Given the description of an element on the screen output the (x, y) to click on. 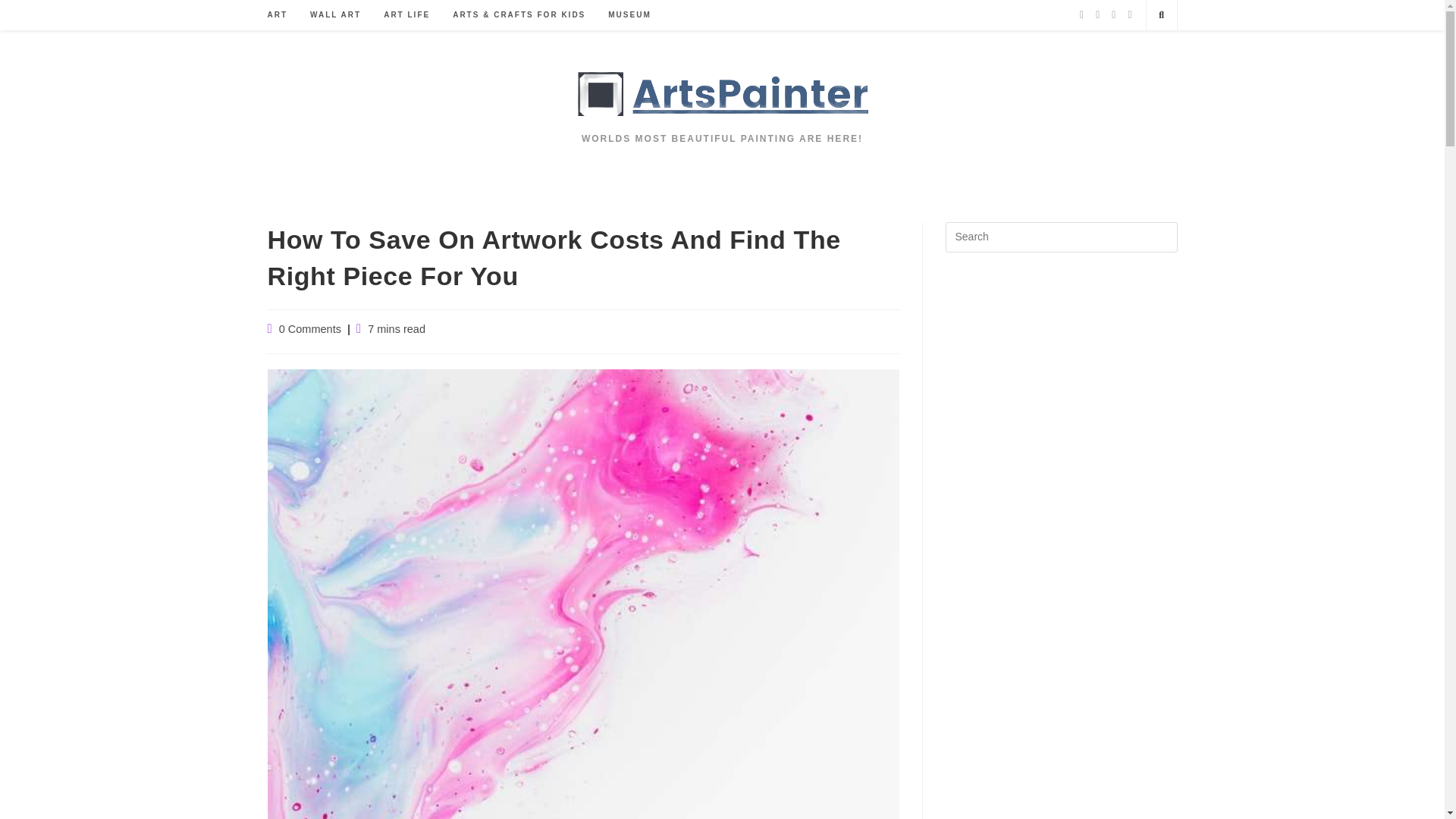
ART LIFE (406, 15)
MUSEUM (629, 15)
WALL ART (335, 15)
ART (277, 15)
0 Comments (309, 328)
